Given the description of an element on the screen output the (x, y) to click on. 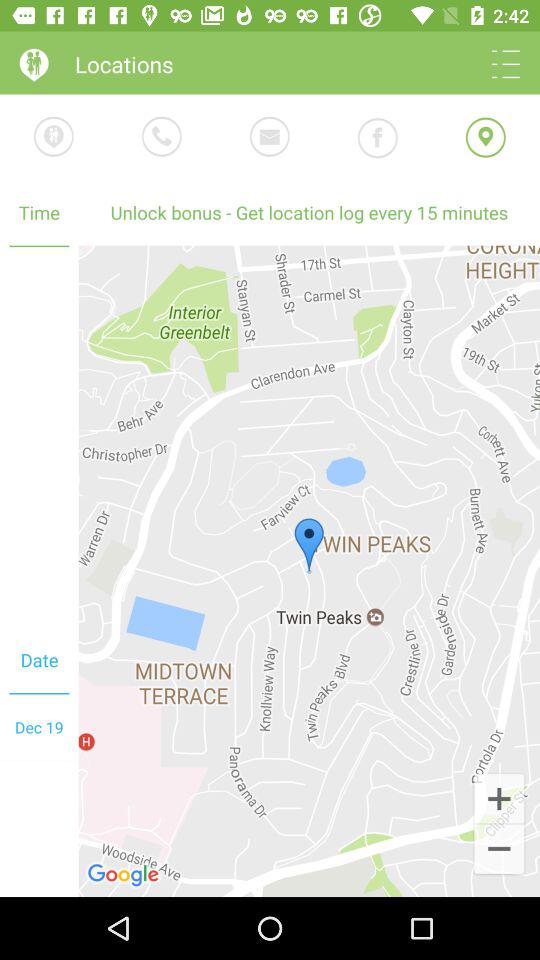
bring up settings (505, 64)
